Given the description of an element on the screen output the (x, y) to click on. 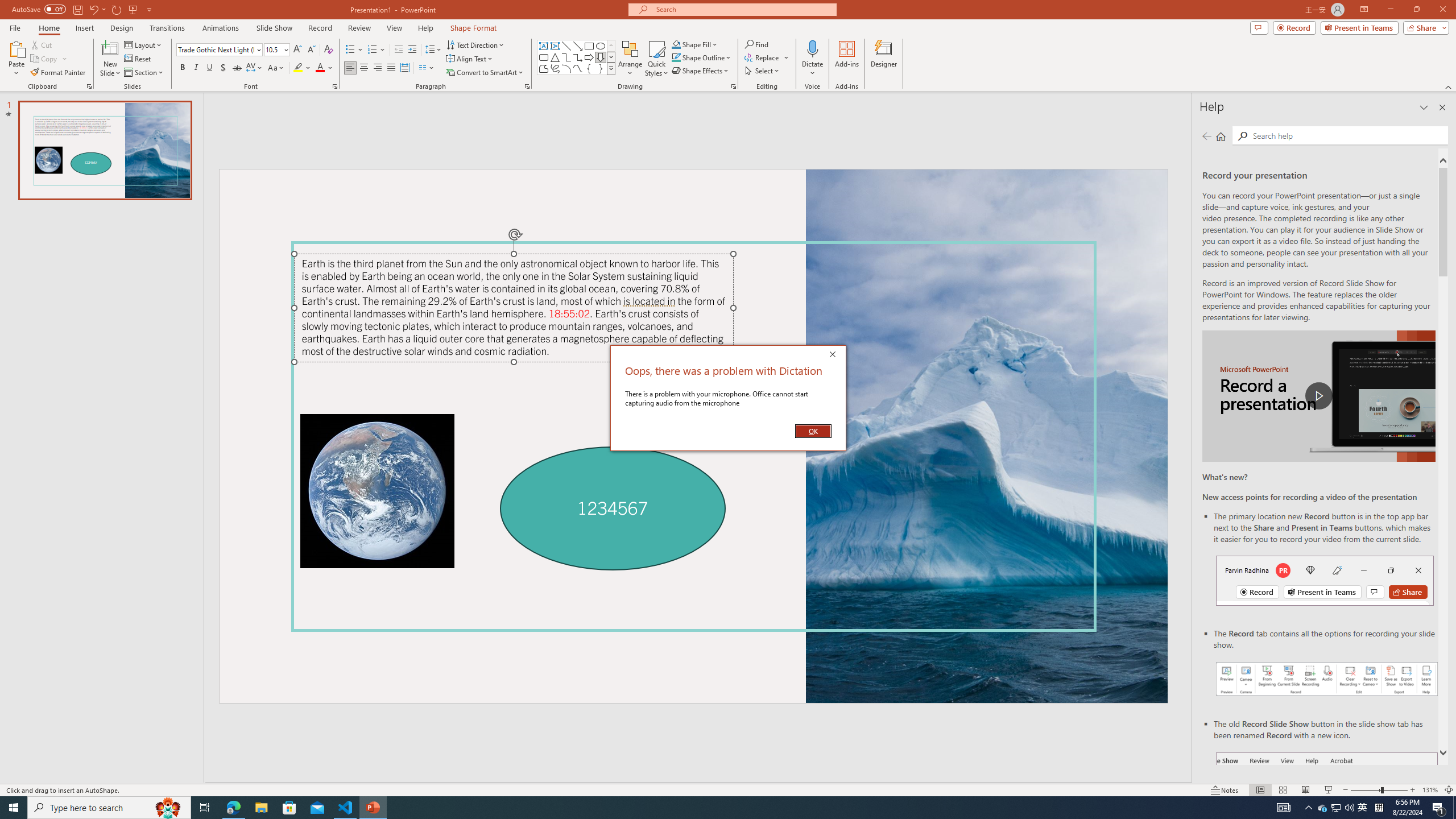
Character Spacing (254, 67)
Action Center, 1 new notification (1439, 807)
Connector: Elbow (566, 57)
Decrease Indent (398, 49)
Present in Teams (1359, 27)
Class: MsoCommandBar (728, 789)
Transitions (167, 28)
Copy (45, 58)
Strikethrough (237, 67)
New Slide (110, 48)
Type here to search (108, 807)
AutomationID: 4105 (1283, 807)
Zoom In (1412, 790)
